Given the description of an element on the screen output the (x, y) to click on. 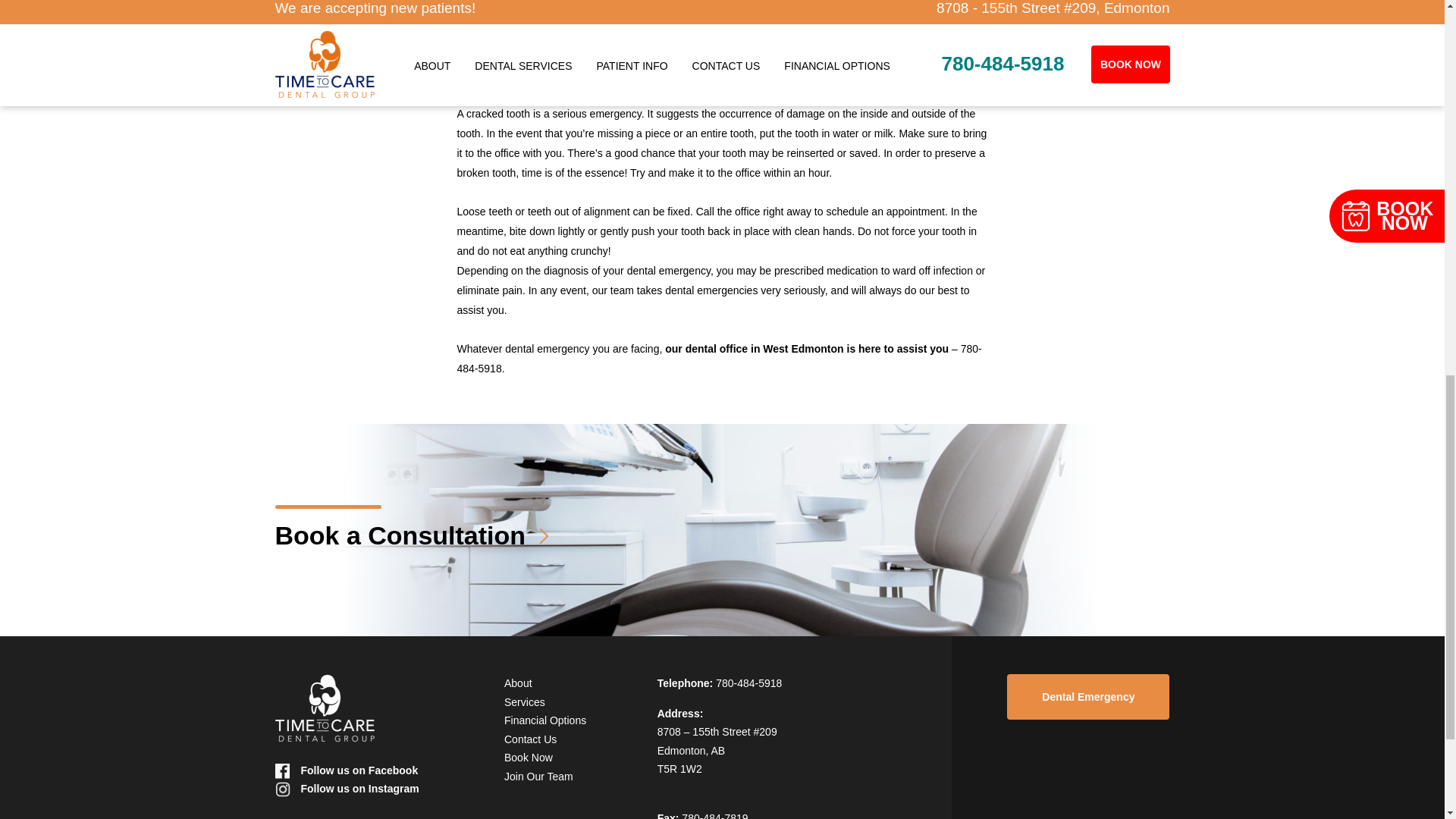
Dental Emergency (1088, 696)
Dental Emergency (1088, 696)
